Given the description of an element on the screen output the (x, y) to click on. 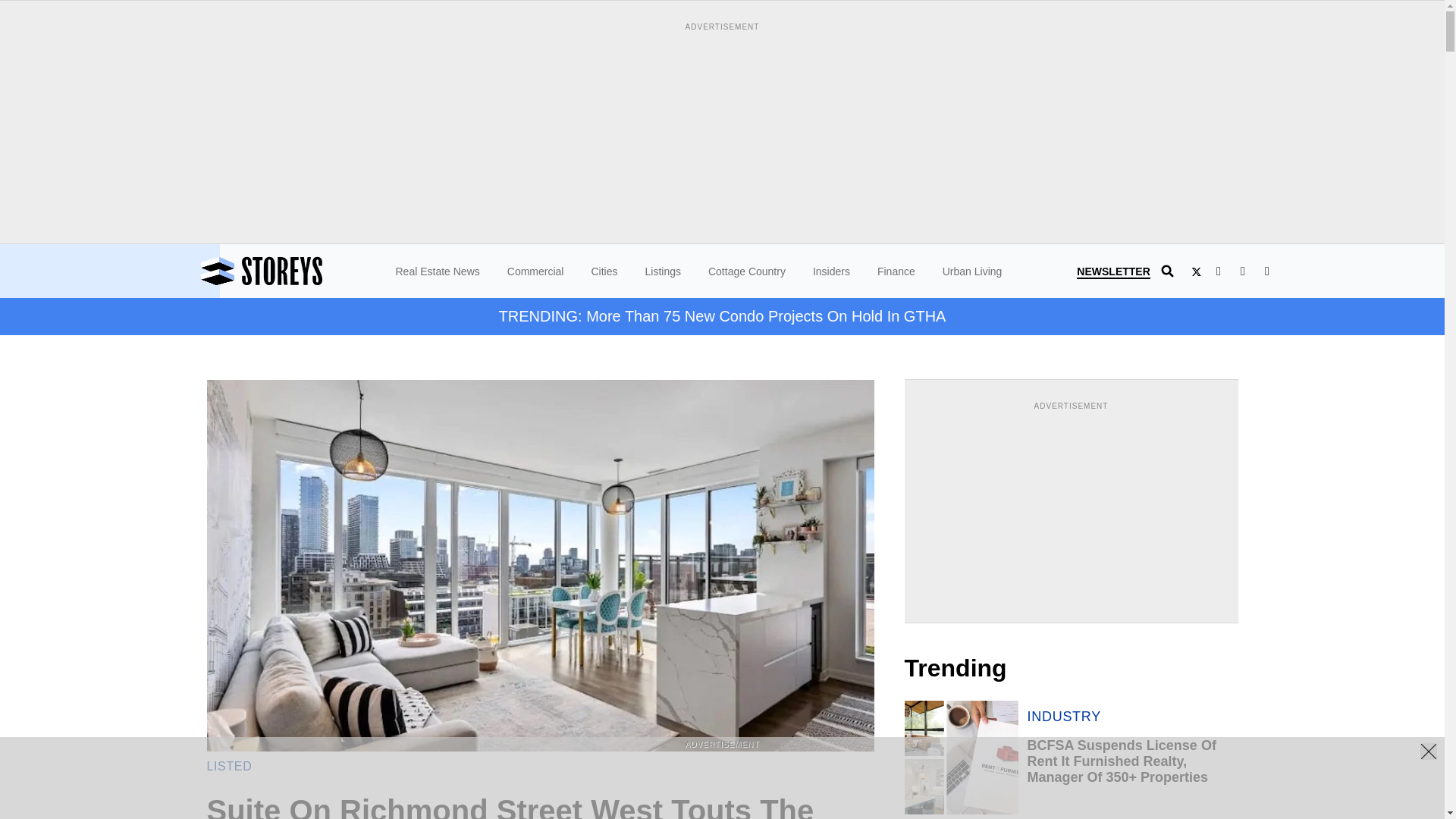
Storeys - Real Estate News in Canada (302, 270)
Listings (662, 271)
Real Estate News (437, 271)
Cities (603, 271)
3rd party ad content (1070, 507)
Commercial (535, 271)
Cottage Country (746, 271)
3rd party ad content (721, 785)
